Given the description of an element on the screen output the (x, y) to click on. 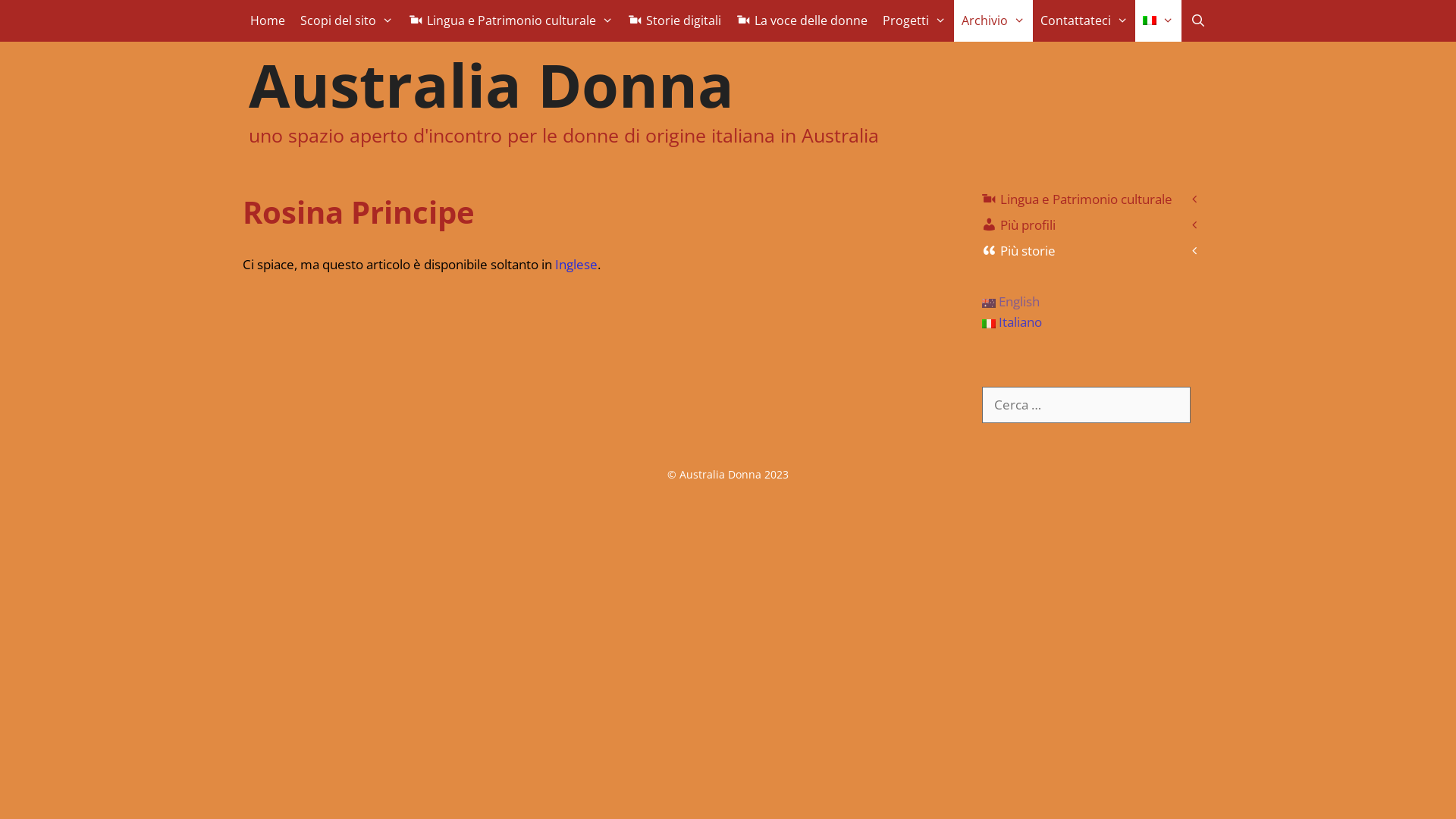
Italiano Element type: text (1011, 321)
Italiano Element type: hover (1158, 20)
Progetti Element type: text (914, 20)
Inglese Element type: text (576, 264)
Archivio Element type: text (992, 20)
Ricerca per: Element type: hover (1086, 404)
Cerca Element type: text (32, 18)
English Element type: text (1010, 301)
Storie digitali Element type: text (674, 20)
Home Element type: text (267, 20)
Australia Donna Element type: text (491, 84)
Contattateci Element type: text (1083, 20)
Lingua e Patrimonio culturale Element type: text (511, 20)
La voce delle donne Element type: text (801, 20)
Scopi del sito Element type: text (346, 20)
Lingua e Patrimonio culturale Element type: text (1091, 199)
